Given the description of an element on the screen output the (x, y) to click on. 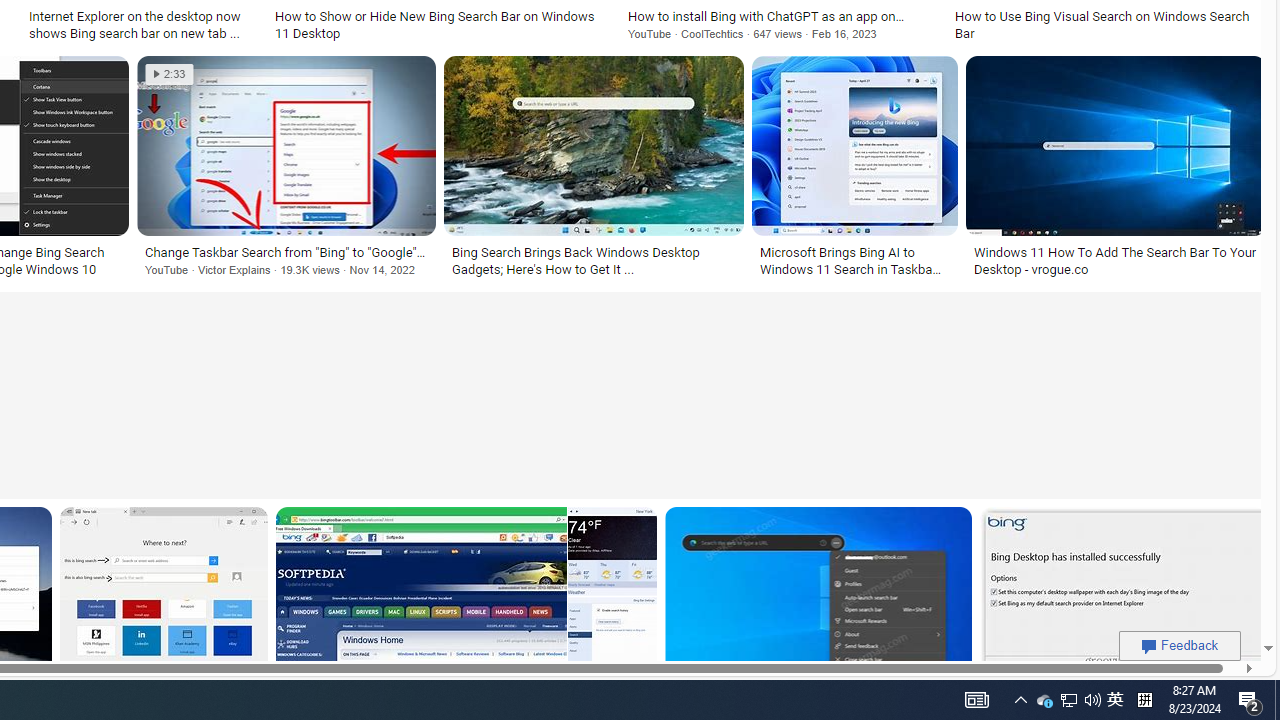
How to Use Bing Visual Search on Windows Search Bar (1106, 24)
How to Use Bing Visual Search on Windows Search Bar (1106, 24)
Image result for Bing Search Bar Install (1122, 596)
2:33 (169, 74)
